Given the description of an element on the screen output the (x, y) to click on. 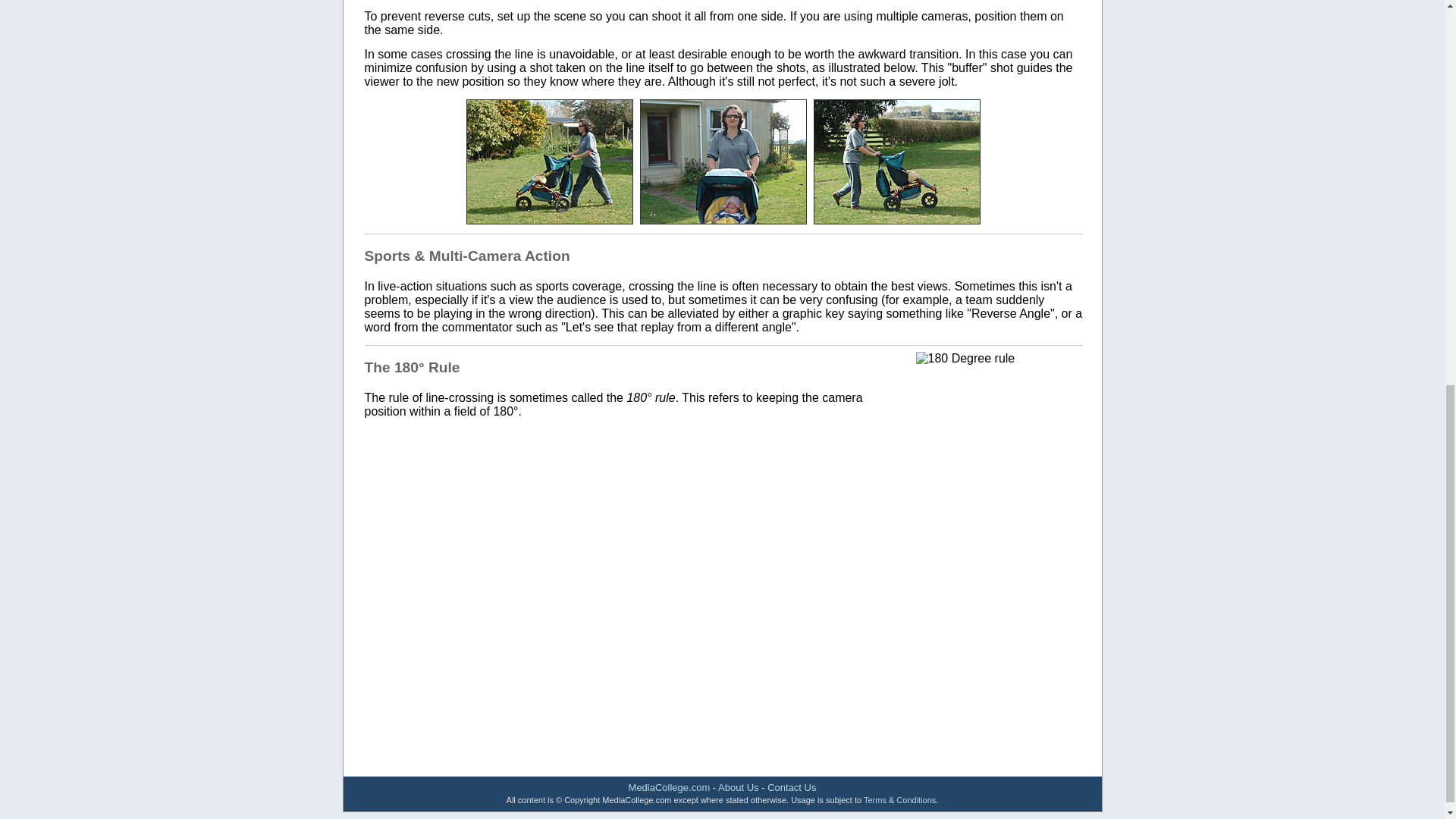
Contact Us (791, 787)
MediaCollege.com (669, 787)
About Us (737, 787)
